Given the description of an element on the screen output the (x, y) to click on. 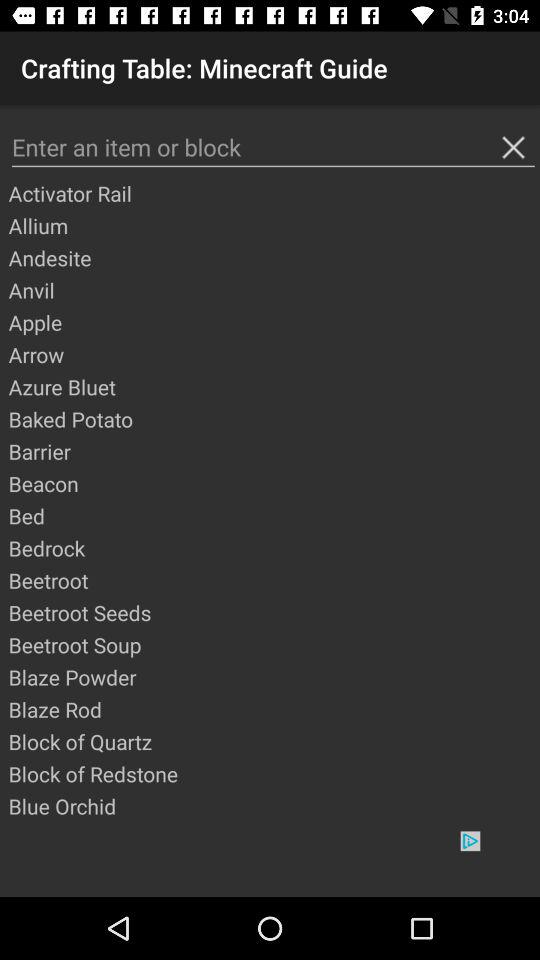
search minecraft items (273, 147)
